Given the description of an element on the screen output the (x, y) to click on. 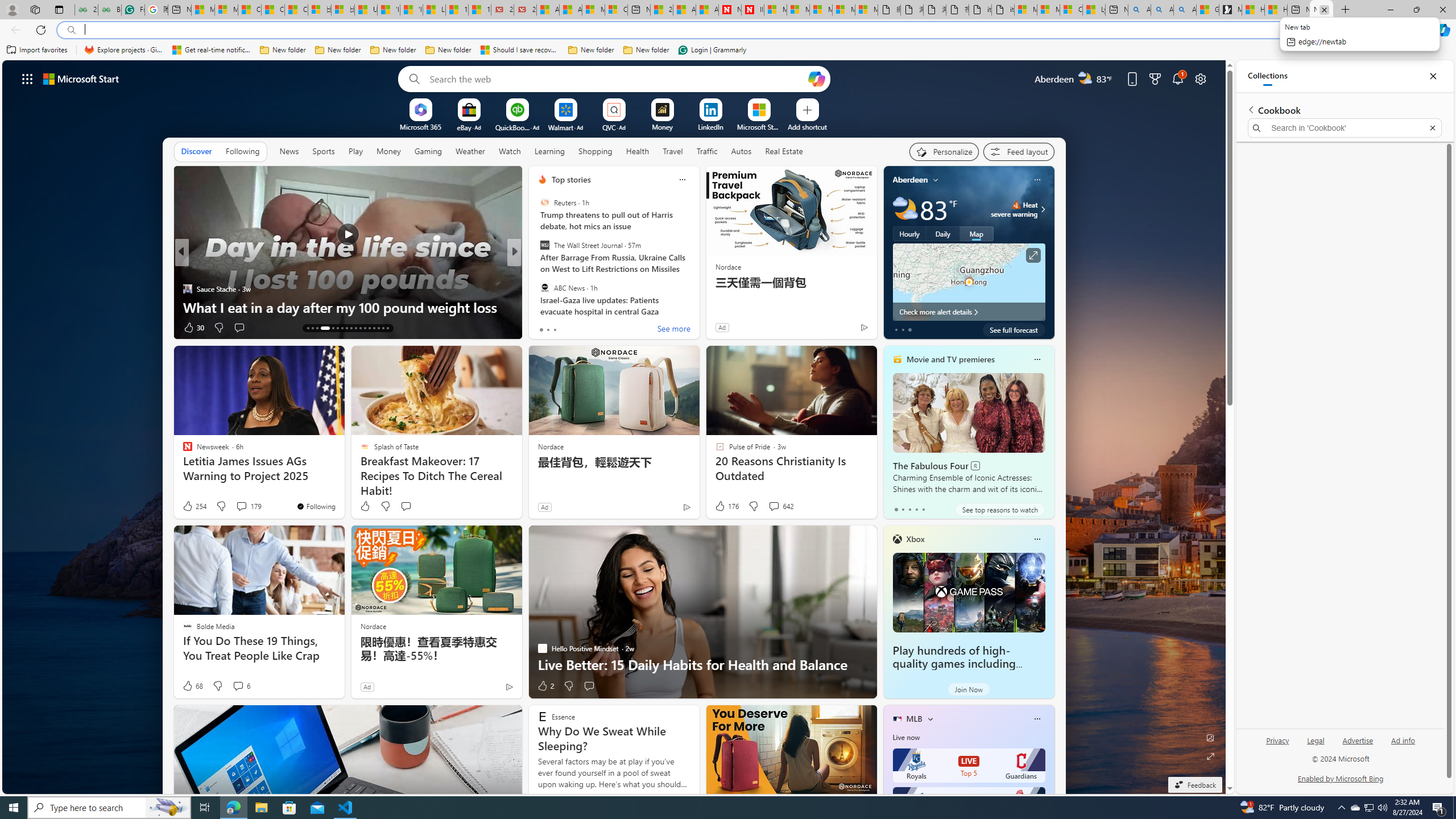
Check more alert details (968, 311)
Illness news & latest pictures from Newsweek.com (752, 9)
Sports (323, 151)
Weather (470, 151)
Autos (740, 151)
Add a site (807, 126)
1k Like (543, 327)
View comments 2 Comment (585, 327)
